Given the description of an element on the screen output the (x, y) to click on. 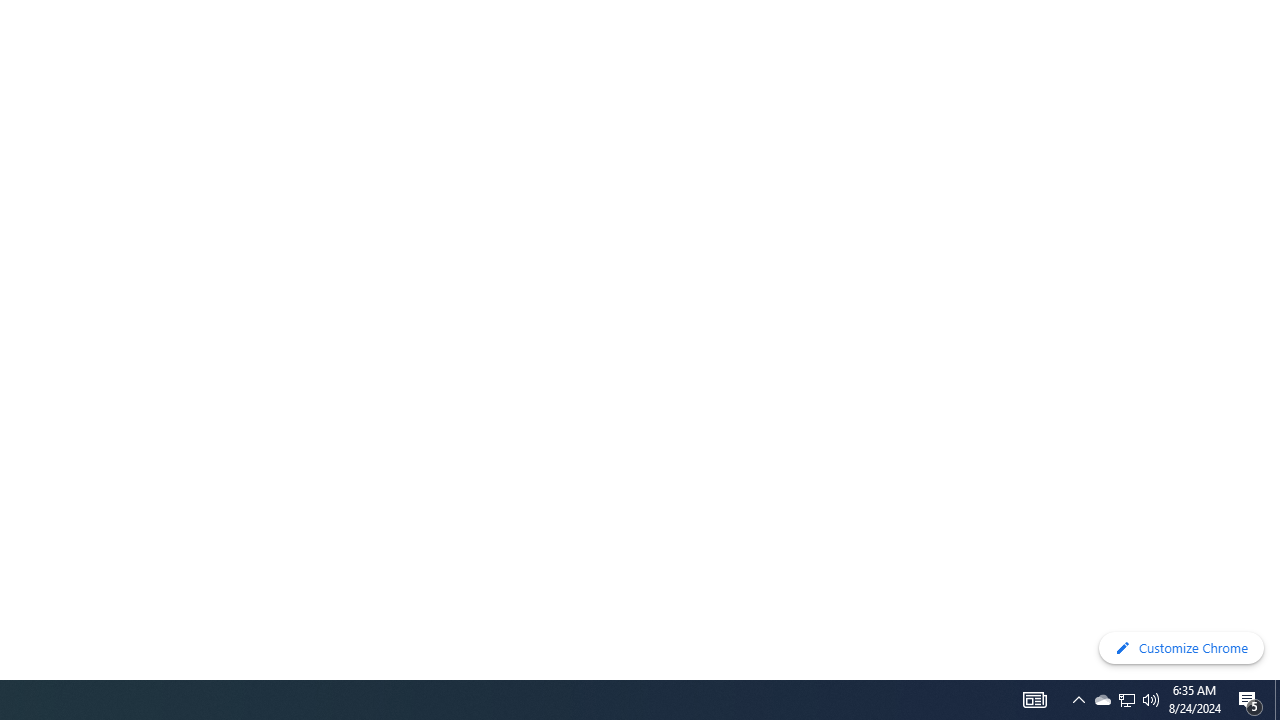
Customize Chrome (1181, 647)
